Given the description of an element on the screen output the (x, y) to click on. 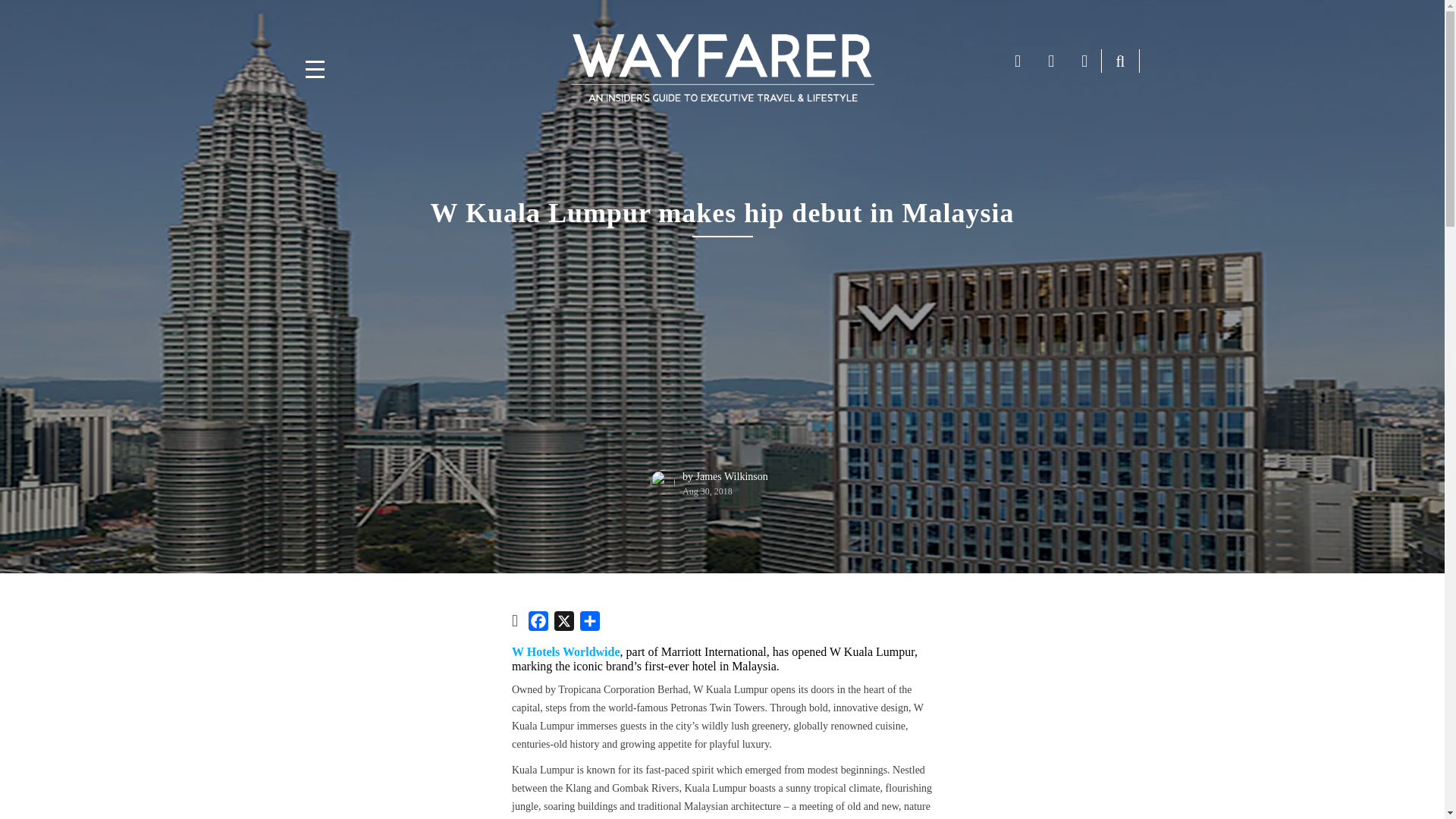
X (563, 623)
instagram (1083, 60)
youtube (1050, 60)
X (563, 623)
facebook (1017, 60)
W Hotels Worldwide (566, 651)
Facebook (538, 623)
Facebook (538, 623)
